Given the description of an element on the screen output the (x, y) to click on. 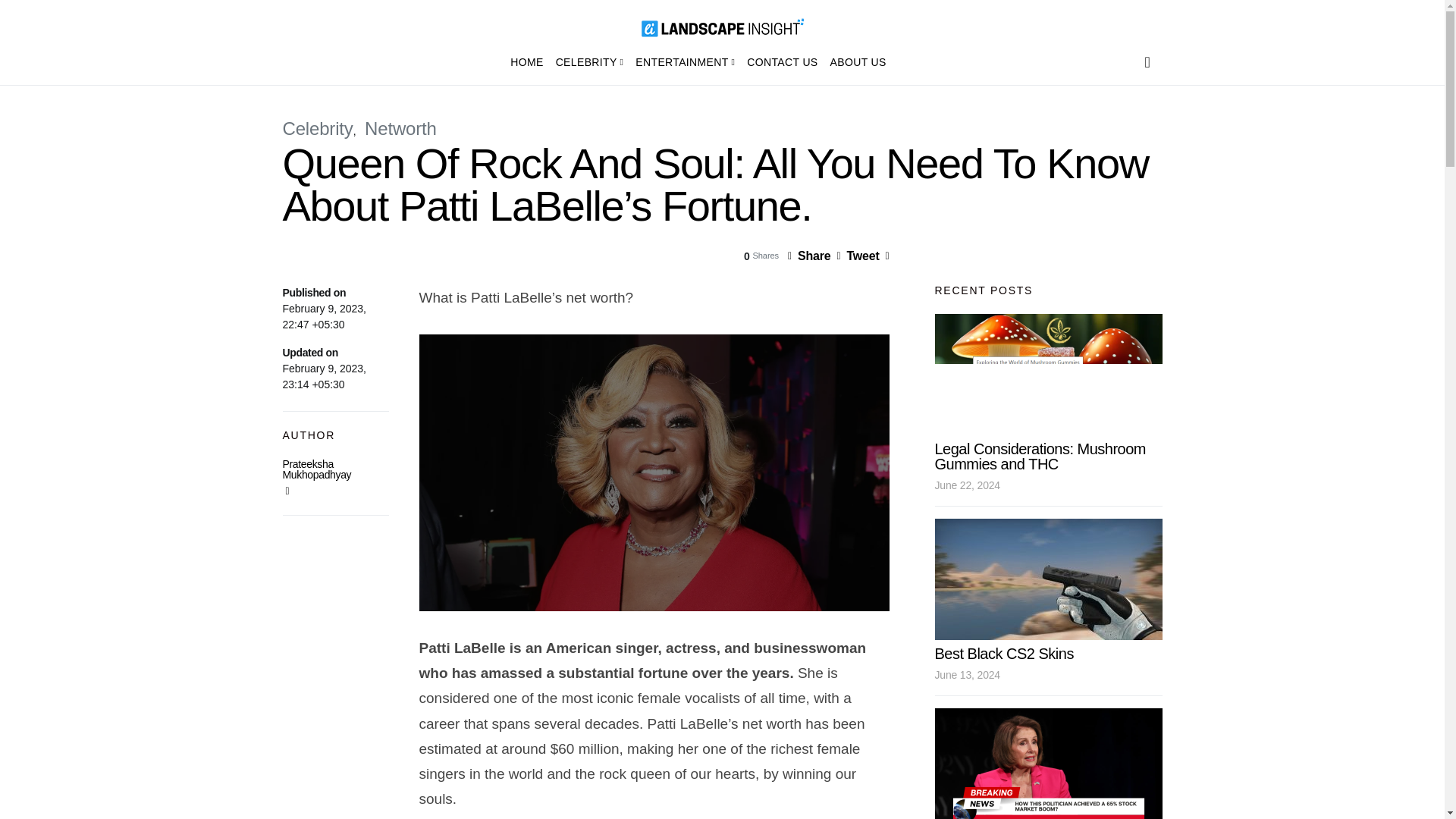
Tweet (857, 256)
CONTACT US (782, 62)
ENTERTAINMENT (684, 62)
ABOUT US (855, 62)
Celebrity (317, 127)
Best Black CS2 Skins 12 20220620211949 1 2024 TV Series (1047, 578)
Share (808, 256)
Networth (400, 127)
CELEBRITY (590, 62)
